Given the description of an element on the screen output the (x, y) to click on. 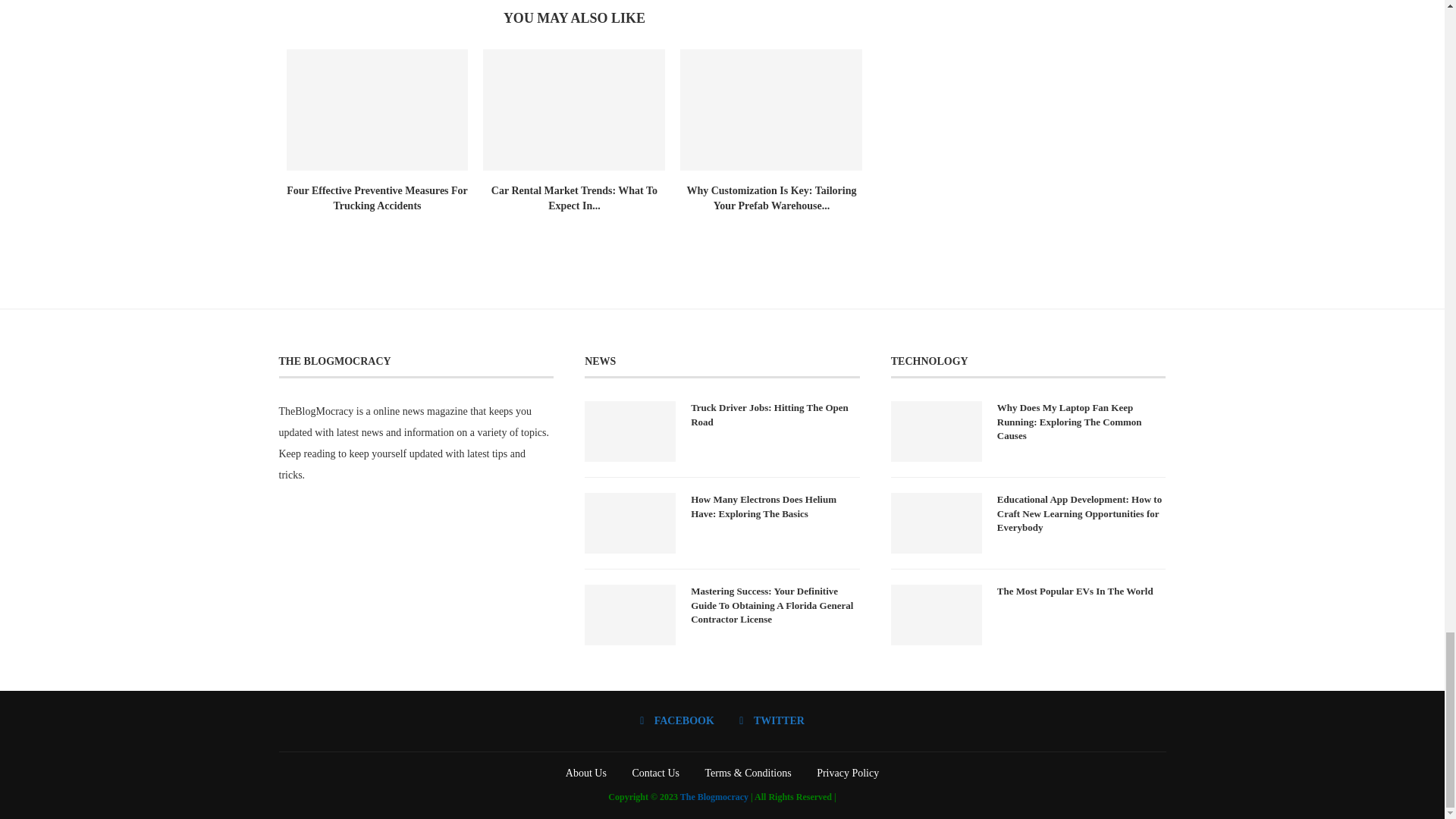
Why Customization Is Key: Tailoring Your Prefab Warehouse... (770, 198)
Car Rental Market Trends: What To Expect In... (575, 198)
Four Effective Preventive Measures For Trucking Accidents (376, 198)
Four Effective Preventive Measures For Trucking Accidents (377, 109)
